Given the description of an element on the screen output the (x, y) to click on. 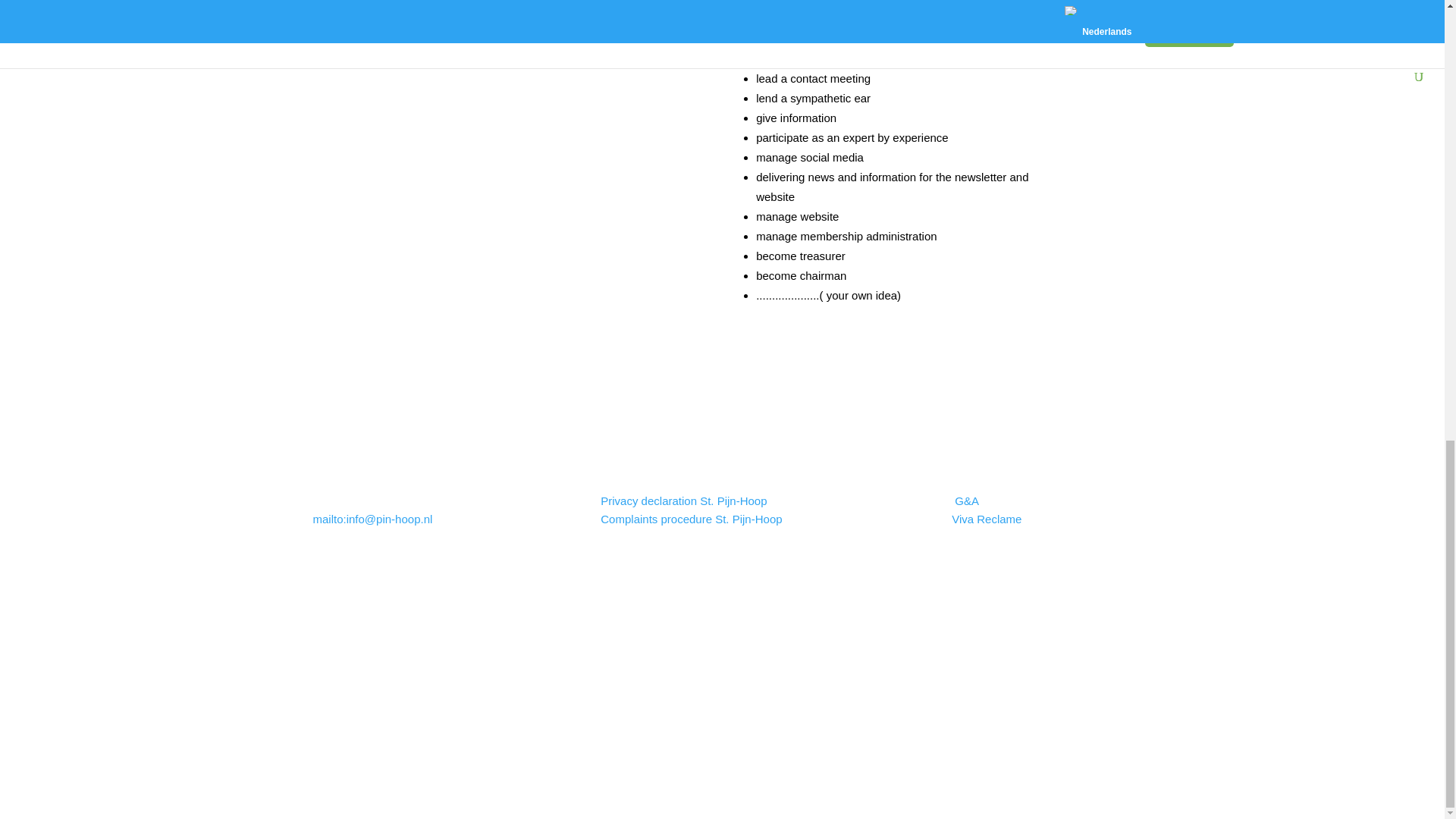
Follow on Instagram (737, 713)
Follow on Facebook (706, 713)
vrijwilligers maken het verschil 2 (505, 183)
Complaints procedure St. Pijn-Hoop (690, 518)
Privacy declaration St. Pijn-Hoop  (684, 500)
